Given the description of an element on the screen output the (x, y) to click on. 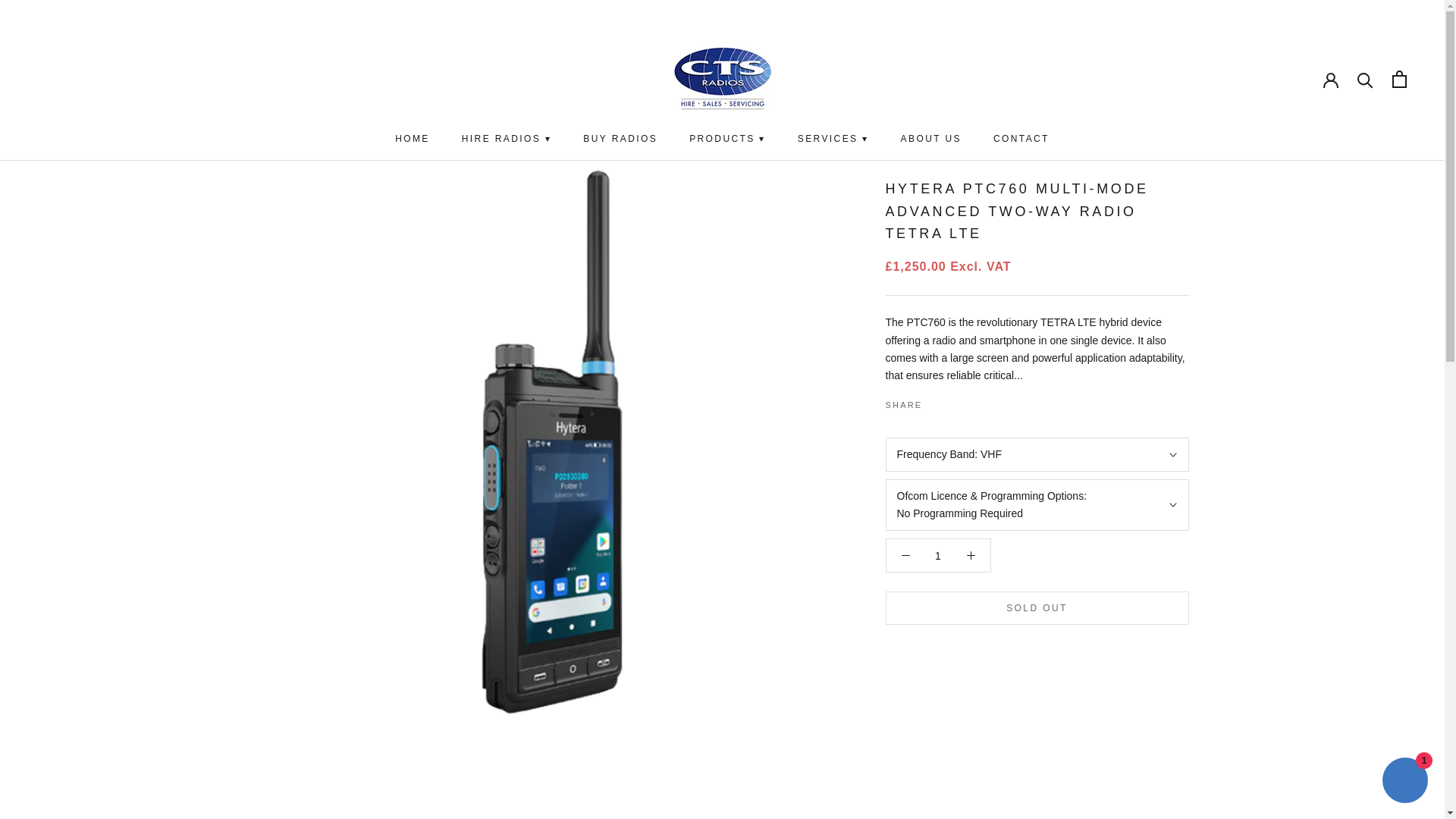
1 (938, 555)
Shopify online store chat (1404, 781)
